Given the description of an element on the screen output the (x, y) to click on. 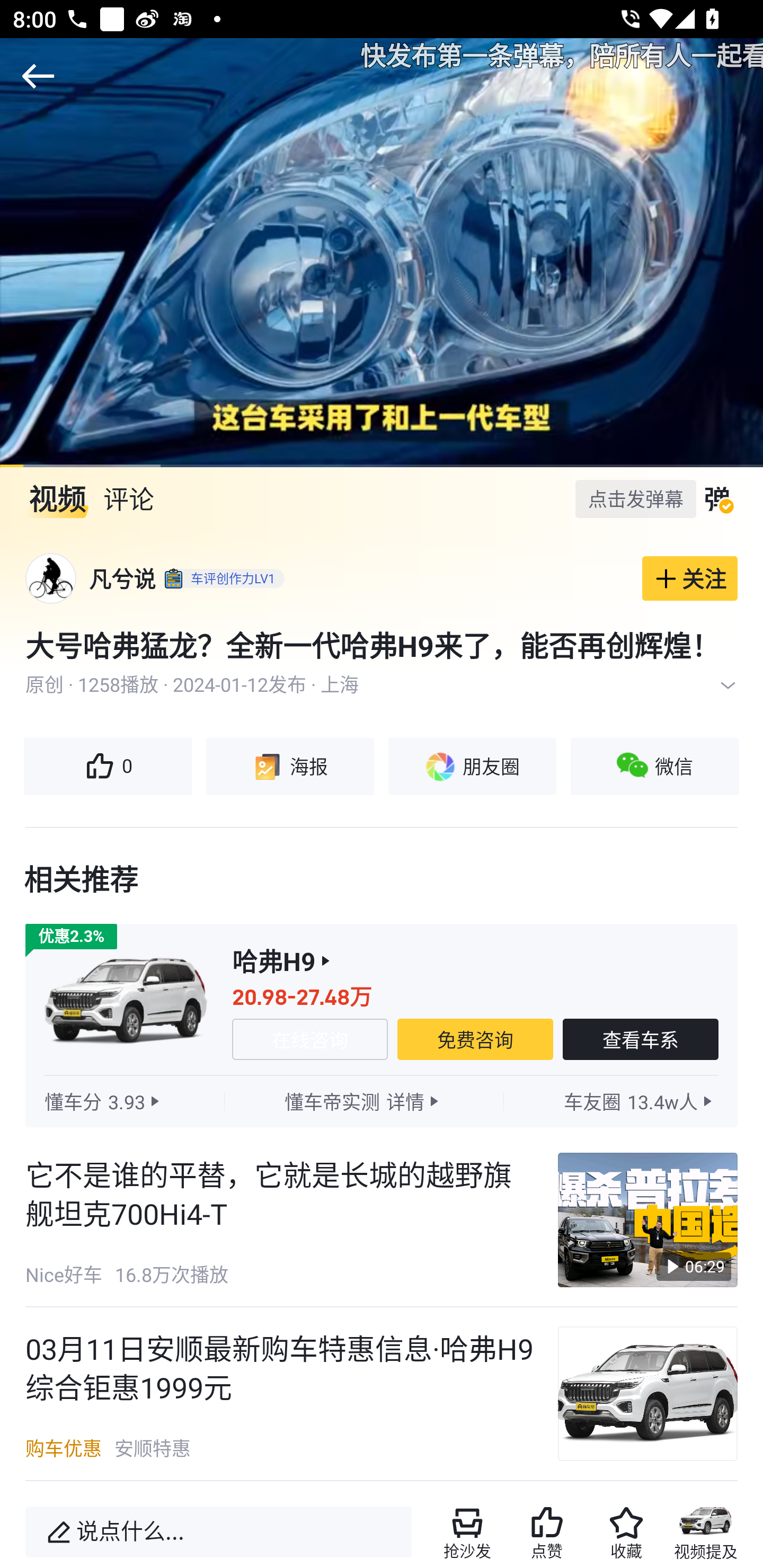
3.0 (381, 252)
 (38, 75)
视频 (57, 499)
评论 (128, 499)
点击发弹幕 (635, 498)
 关注 (689, 578)
凡兮说 (122, 578)
车评创作力LV1 (221, 578)
大号哈弗猛龙？全新一代哈弗H9来了，能否再创辉煌！ (381, 644)
 (727, 684)
0 (107, 766)
海报 (289, 766)
朋友圈 (472, 766)
微信 (654, 766)
在线咨询 (309, 1039)
免费咨询 (475, 1039)
查看车系 (640, 1039)
懂车分 3.93  (104, 1101)
懂车帝实测 详情  (363, 1101)
车友圈 13.4w人  (640, 1101)
03月11日安顺最新购车特惠信息·哈弗H9综合钜惠1999元 购车优惠 安顺特惠 (381, 1394)
 抢沙发 (467, 1531)
点赞 (546, 1531)
收藏 (625, 1531)
视频提及 (705, 1531)
 说点什么... (218, 1531)
